Given the description of an element on the screen output the (x, y) to click on. 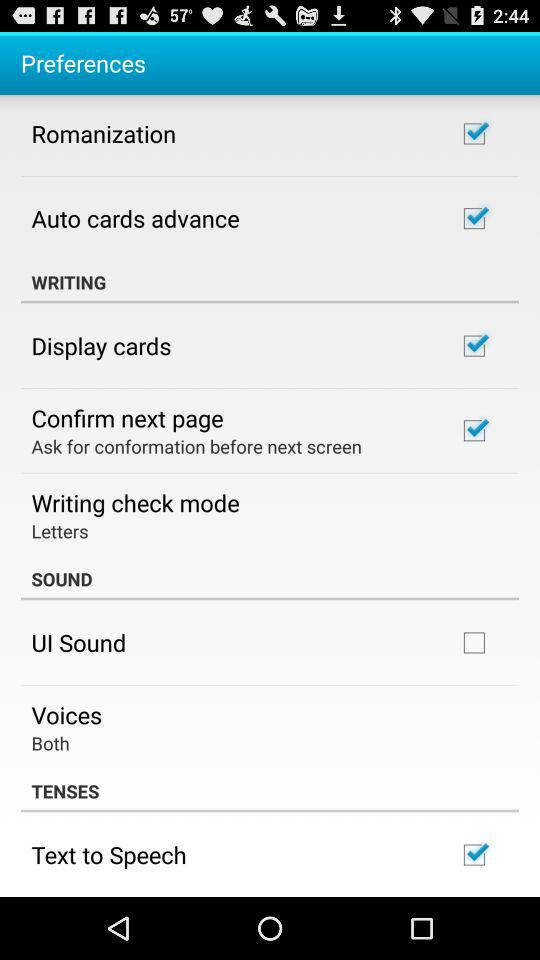
scroll until the display cards app (101, 345)
